Given the description of an element on the screen output the (x, y) to click on. 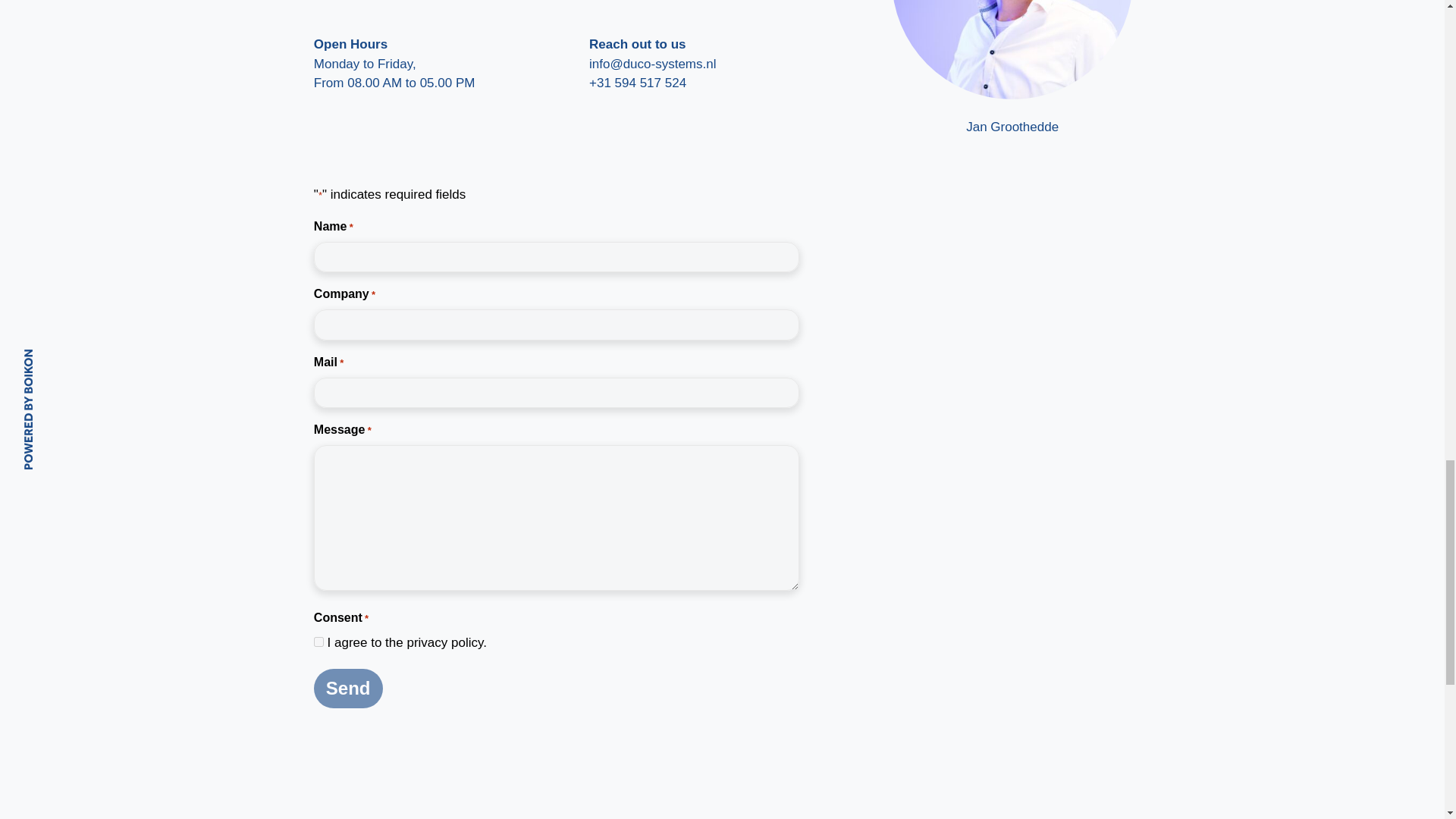
1 (318, 642)
Jan Groothedde (1011, 55)
Send (348, 688)
Send (348, 688)
